Given the description of an element on the screen output the (x, y) to click on. 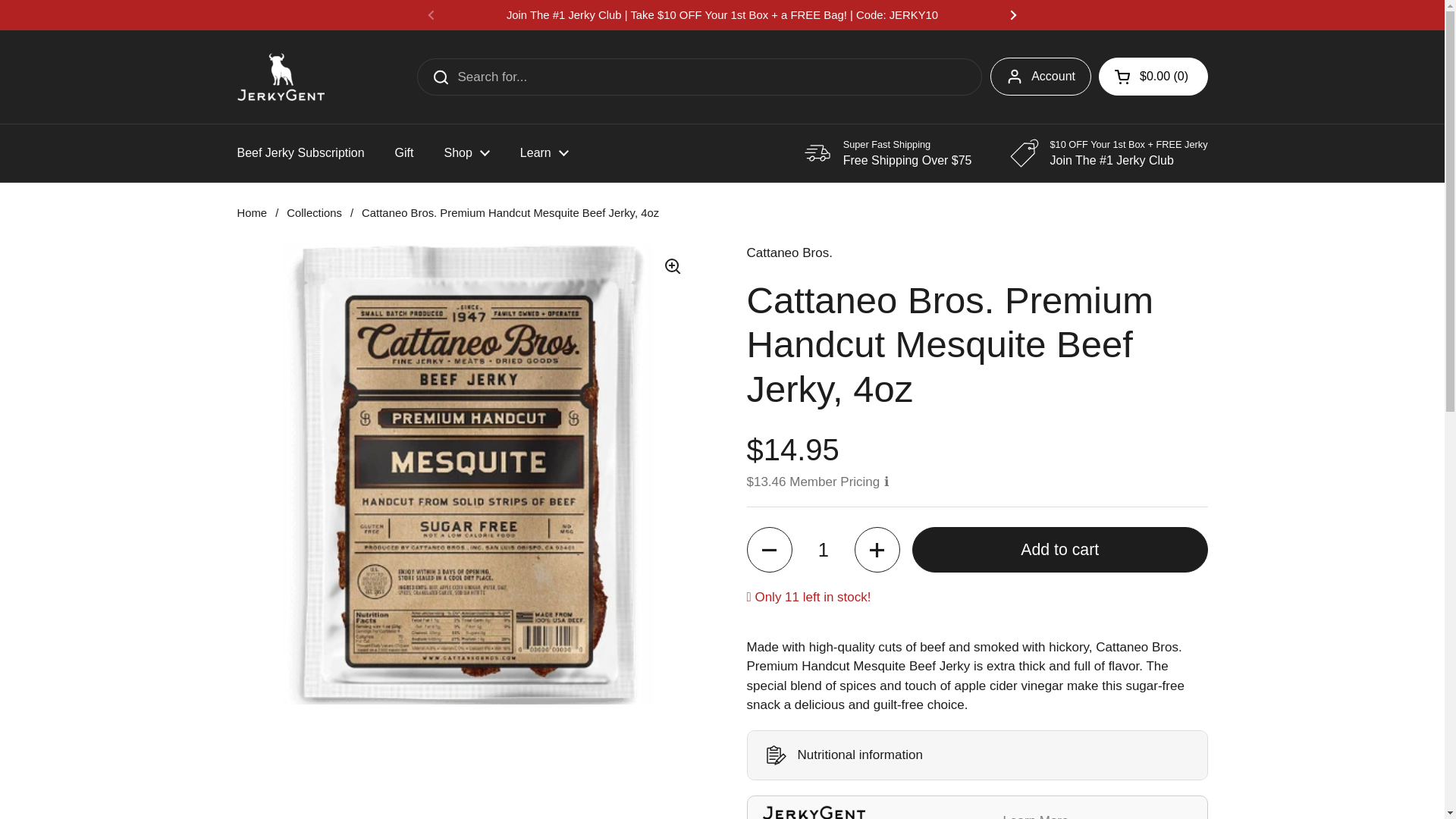
Shop (465, 152)
Beef Jerky Subscription (299, 152)
Account (1040, 76)
JerkyGent (279, 76)
Learn (544, 152)
Beef Jerky Subscription (299, 152)
Shop (465, 152)
Gift (404, 152)
1 (822, 549)
